Given the description of an element on the screen output the (x, y) to click on. 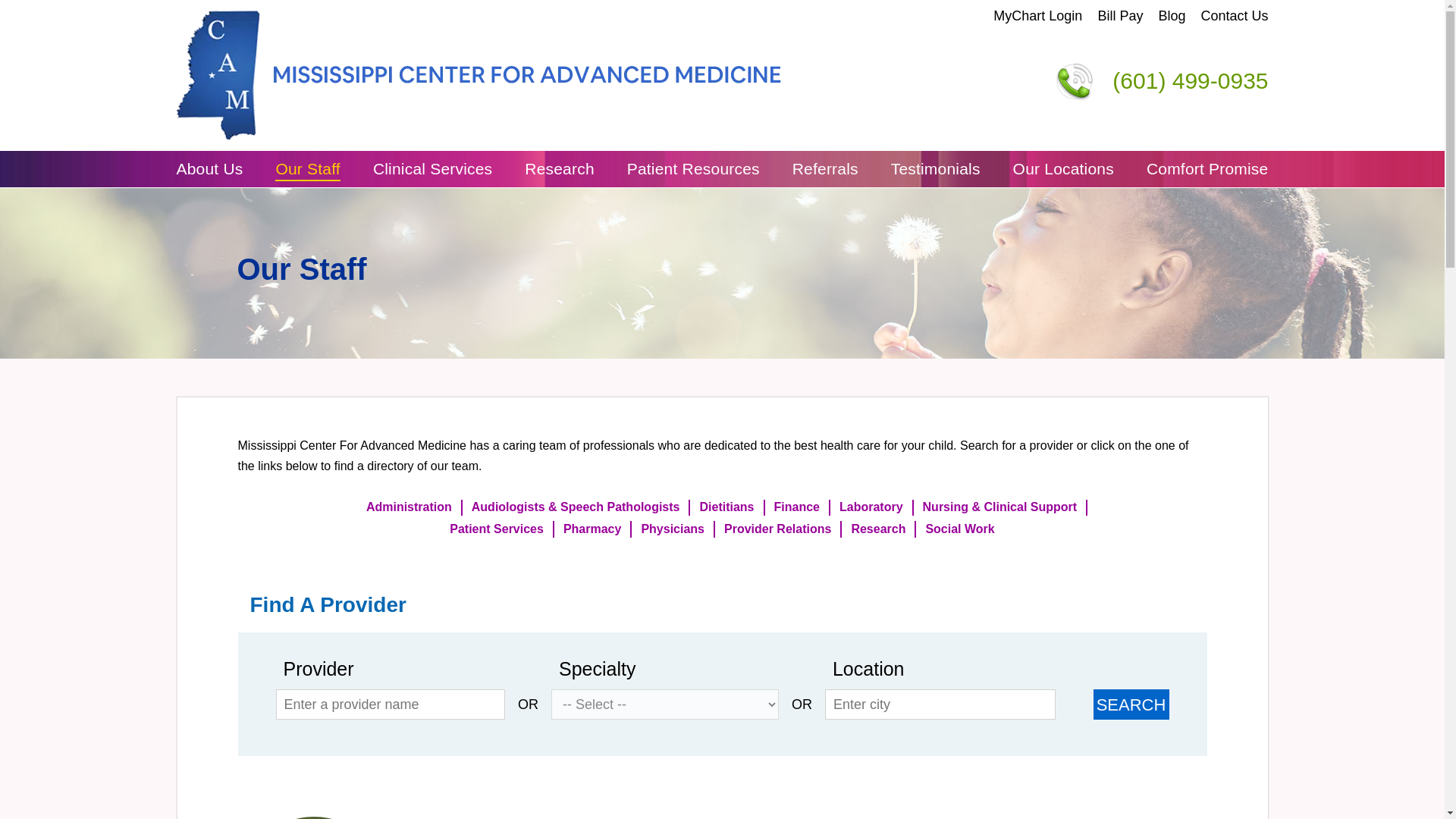
Blog (1171, 16)
Bill Pay (1119, 16)
Comfort Promise (1207, 168)
Contact Us (1233, 16)
MyChart Login (1036, 16)
Research (559, 168)
Our Staff (307, 168)
About Us (209, 168)
Testimonials (935, 168)
Referrals (825, 168)
Patient Resources (693, 168)
Clinical Services (432, 168)
Search (1131, 704)
Our Locations (1063, 168)
